Given the description of an element on the screen output the (x, y) to click on. 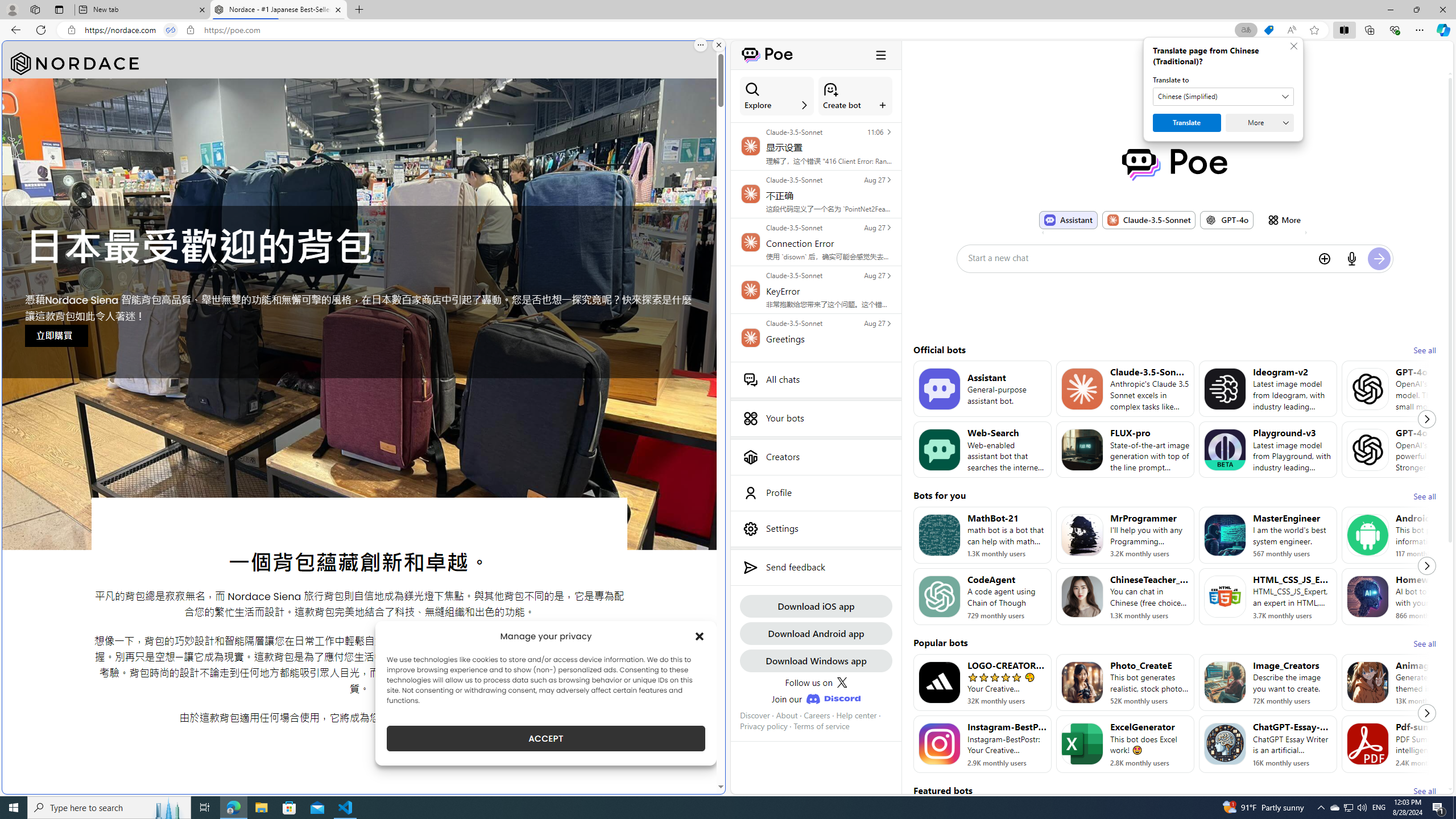
Bot image for AndroidAssistant (1367, 534)
Download Android app (815, 633)
Bot image for Pdf-summarizer-64K (1367, 743)
Send feedback (815, 567)
Bot image for Claude-3.5-Sonnet Claude-3.5-Sonnet (1148, 219)
Bot image for MasterEngineer (1224, 534)
Creators (815, 456)
Class: ToggleSidebarCollapseButton_hamburgerIcon__VuiyV (880, 55)
